Given the description of an element on the screen output the (x, y) to click on. 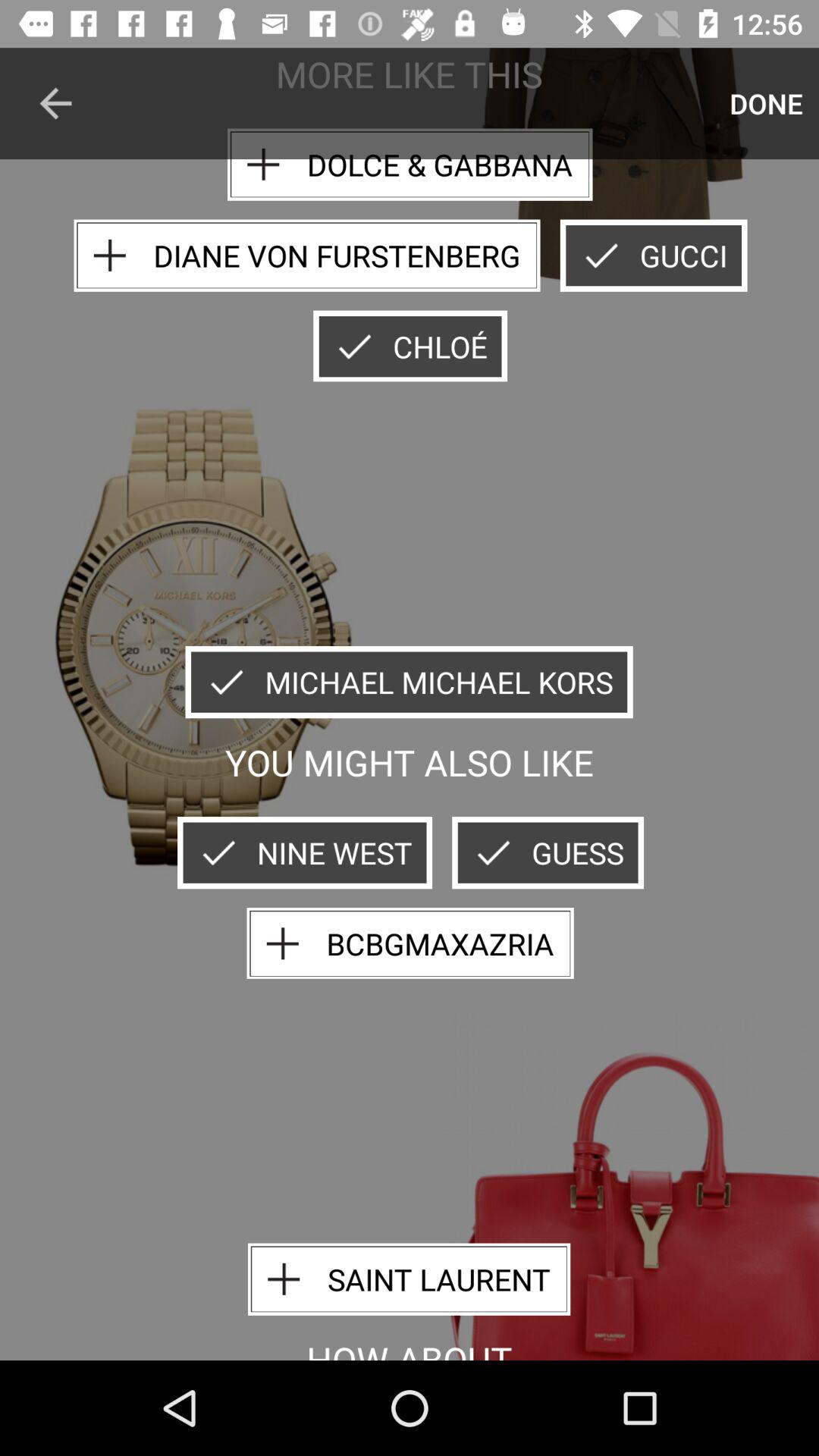
select item next to diane von furstenberg item (653, 255)
